Given the description of an element on the screen output the (x, y) to click on. 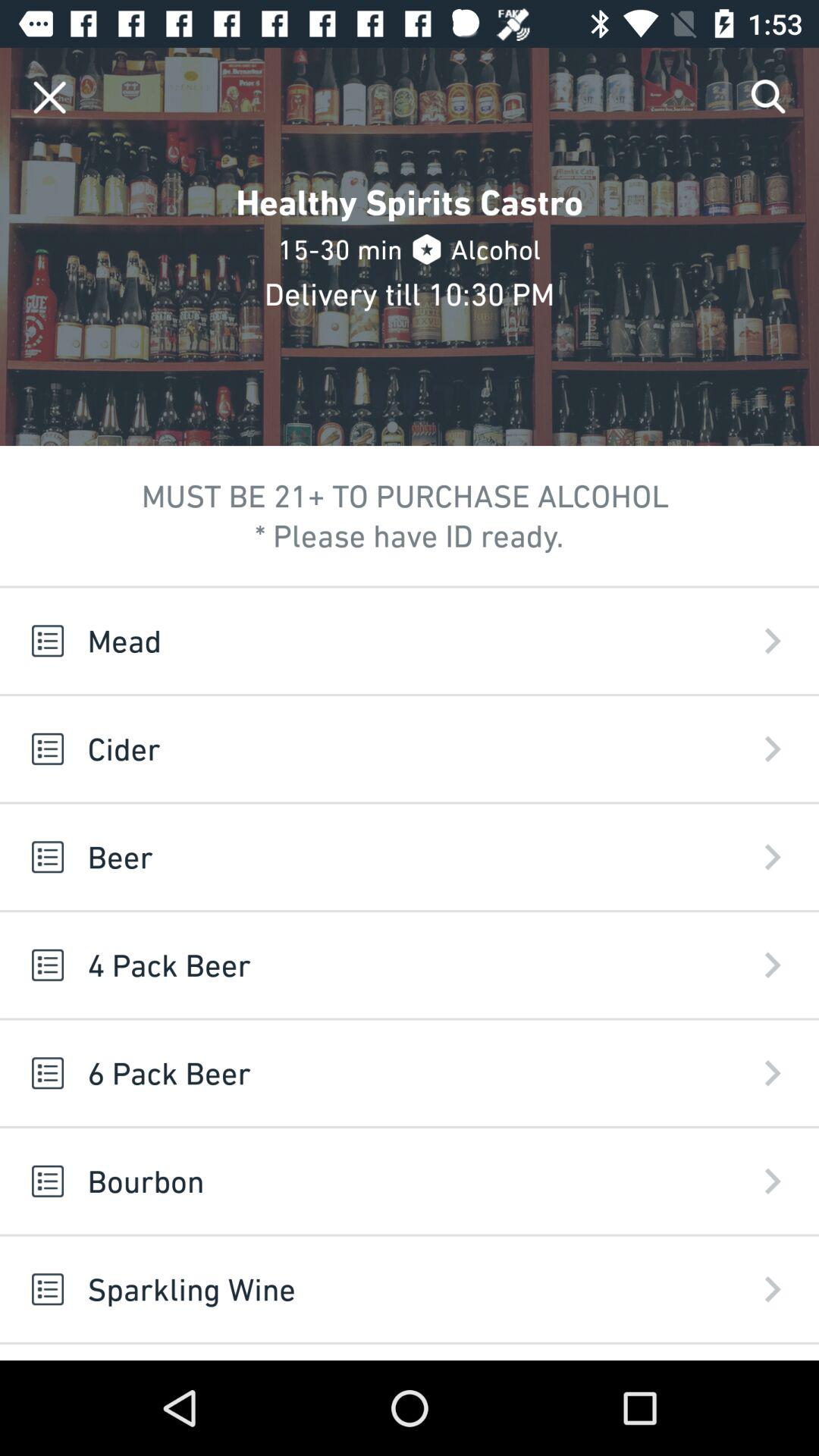
select the icon at the top left corner (49, 97)
